Given the description of an element on the screen output the (x, y) to click on. 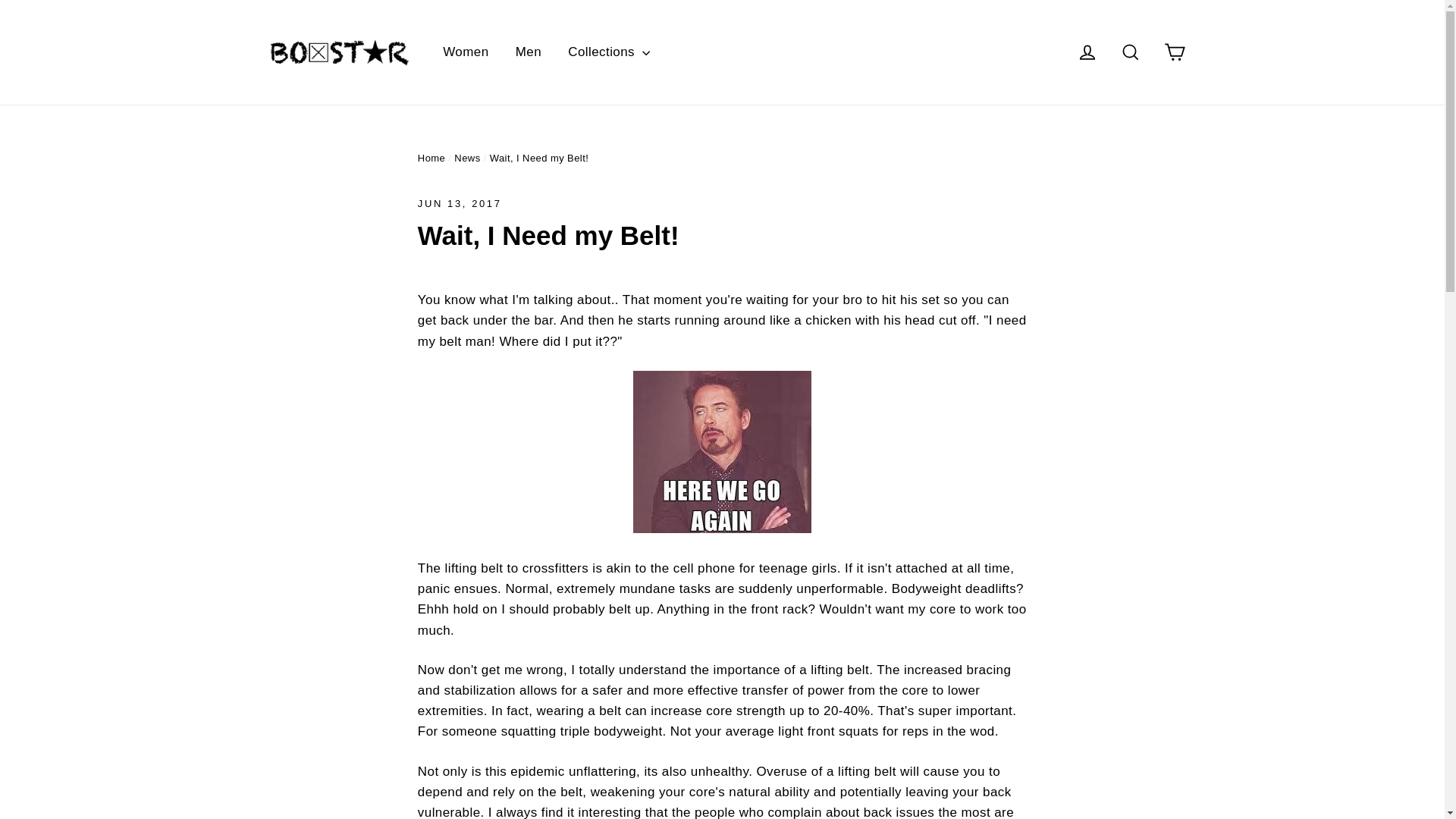
News (467, 157)
Men (528, 51)
Collections (608, 51)
Home (431, 157)
Cart (1173, 51)
Search (1130, 52)
Back to the frontpage (431, 157)
Log in (1086, 52)
Women (464, 51)
